Given the description of an element on the screen output the (x, y) to click on. 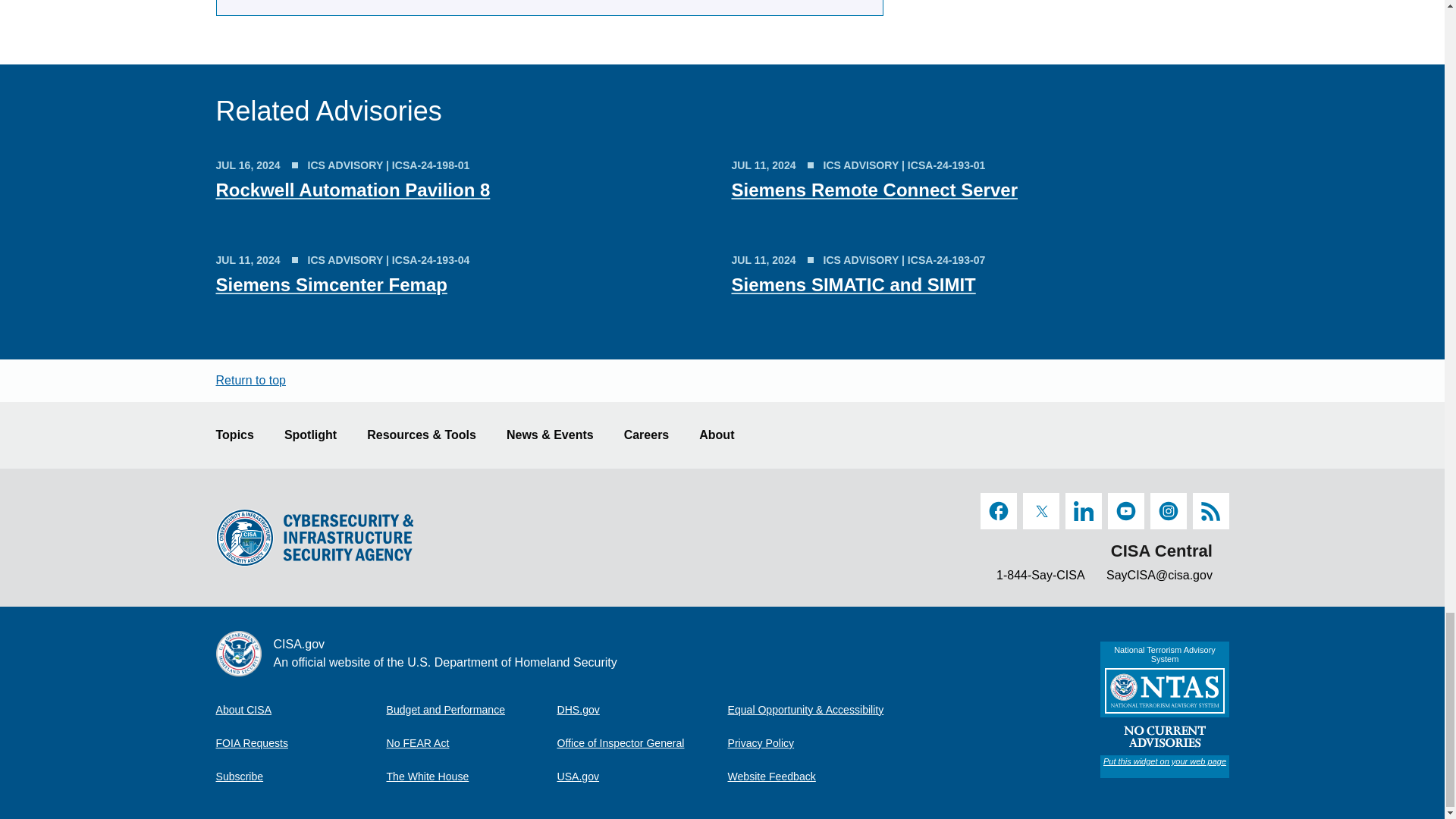
Department of Homeland Security (641, 709)
Privacy Policy (813, 743)
No FEAR Act Reporting (472, 743)
Office of Inspector General (641, 743)
About CISA (300, 709)
Subscribe to Email Updates (300, 776)
Budget and Performance (472, 709)
FOIA Requests (300, 743)
USA.gov (641, 776)
The White House (472, 776)
